Given the description of an element on the screen output the (x, y) to click on. 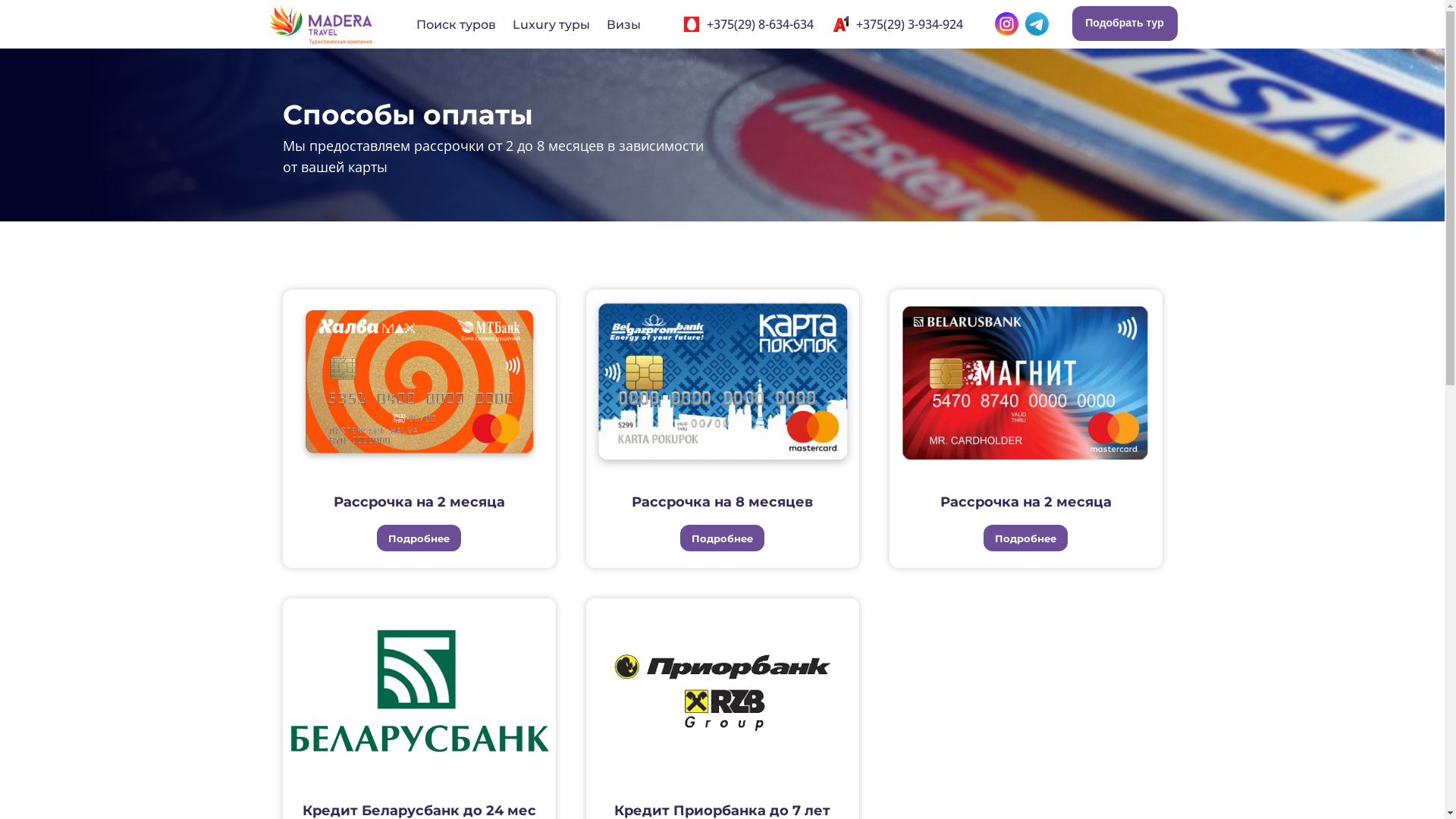
+375(29) 8-634-634 Element type: text (759, 23)
+375(29) 3-934-924 Element type: text (909, 23)
